Given the description of an element on the screen output the (x, y) to click on. 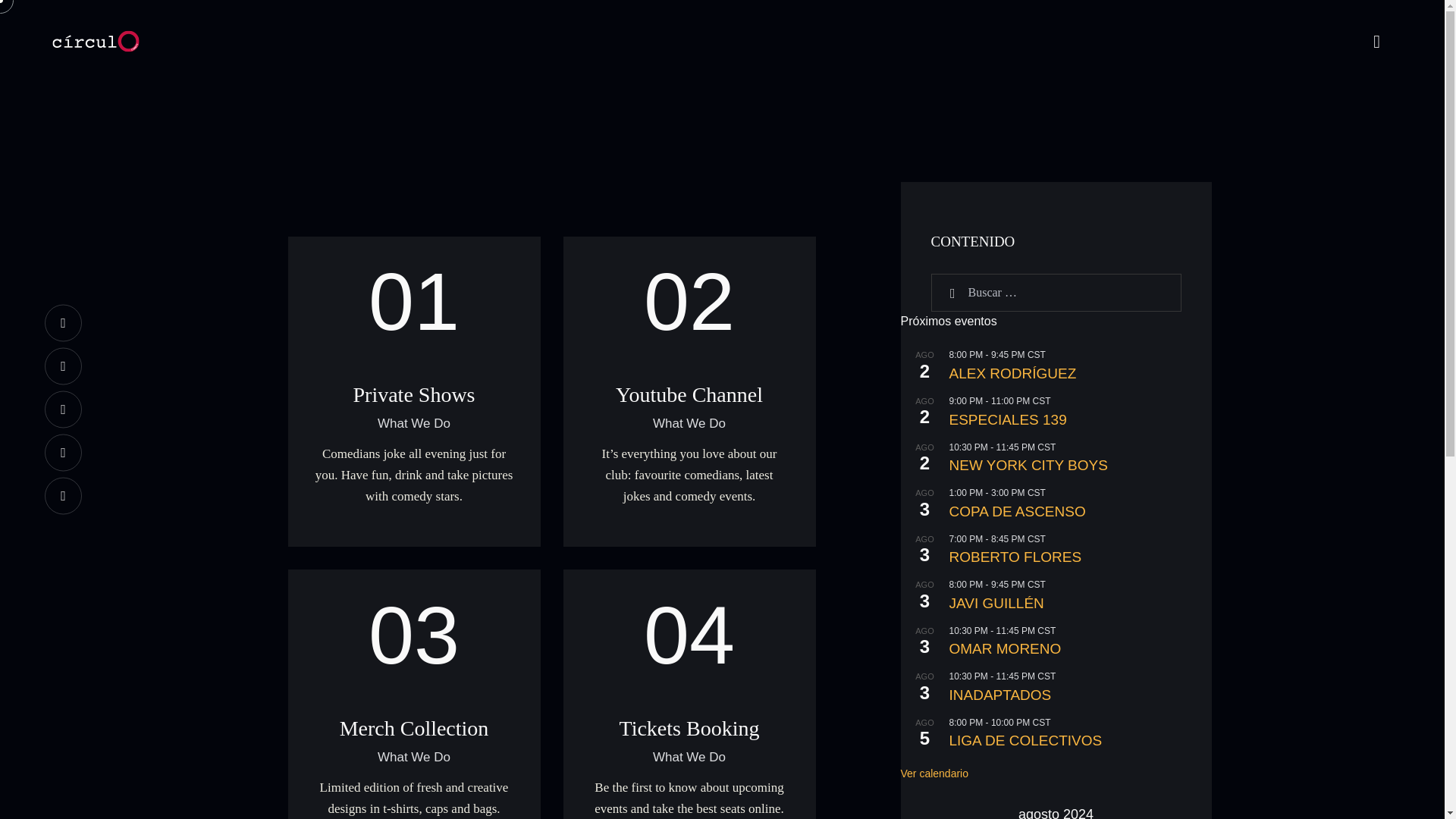
What We Do (413, 423)
COPA DE ASCENSO (1080, 511)
INADAPTADOS (1080, 695)
Merch Collection (414, 728)
NEW YORK CITY BOYS (1080, 465)
View all posts in What We Do (688, 423)
ROBERTO FLORES (1080, 556)
What We Do (413, 757)
What We Do (688, 423)
Youtube Channel (688, 394)
View all posts in What We Do (413, 423)
ESPECIALES 139 (1080, 420)
View all posts in What We Do (688, 757)
View all posts in What We Do (413, 757)
LIGA DE COLECTIVOS (1080, 741)
